Given the description of an element on the screen output the (x, y) to click on. 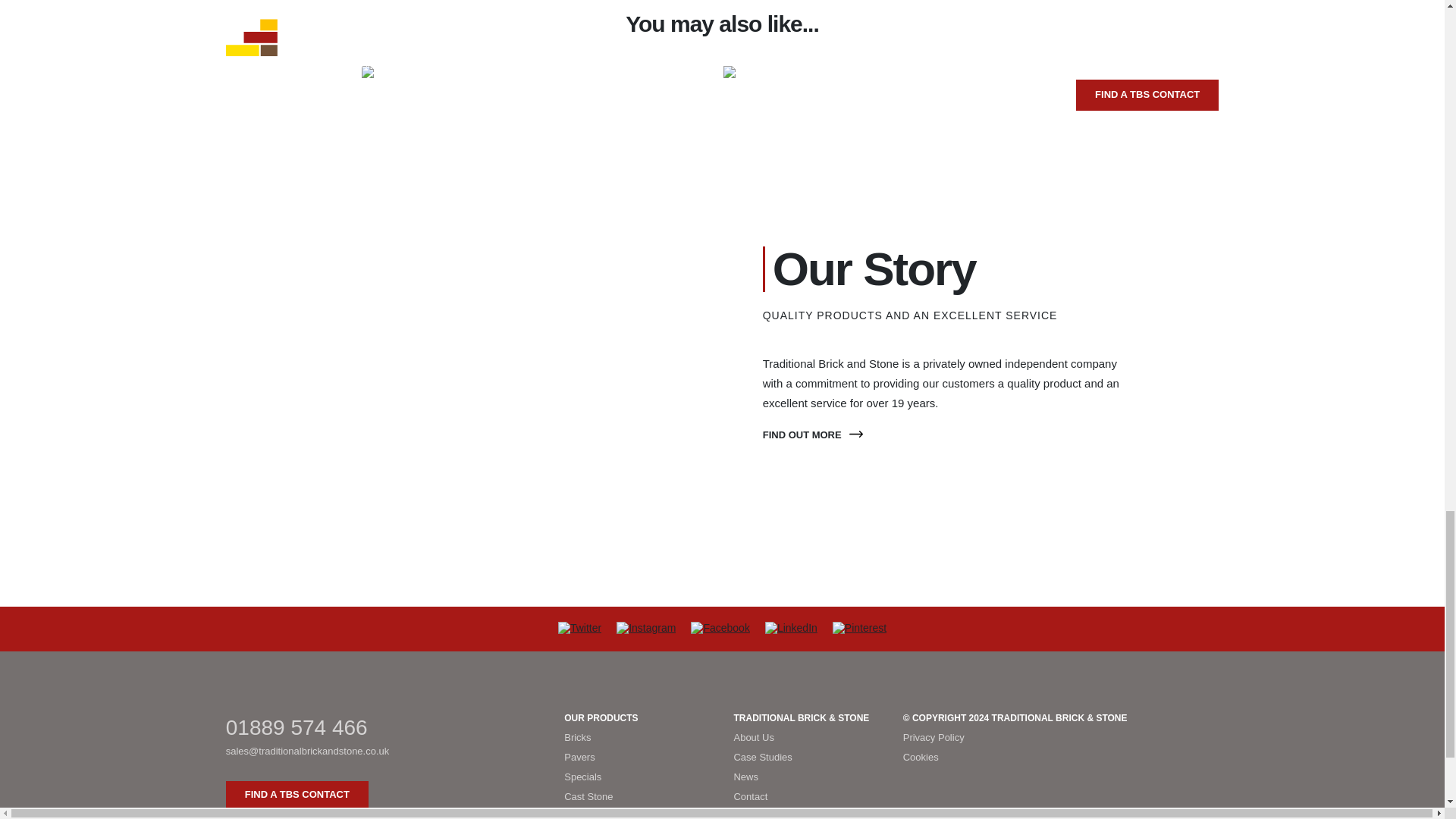
01889 574 466 (383, 726)
Birkdale Blend Clay Paver (540, 73)
FIND OUT MORE (812, 434)
FIND A TBS CONTACT (296, 795)
Keswick Blend Clay Paver (903, 73)
Bricks (637, 737)
